Given the description of an element on the screen output the (x, y) to click on. 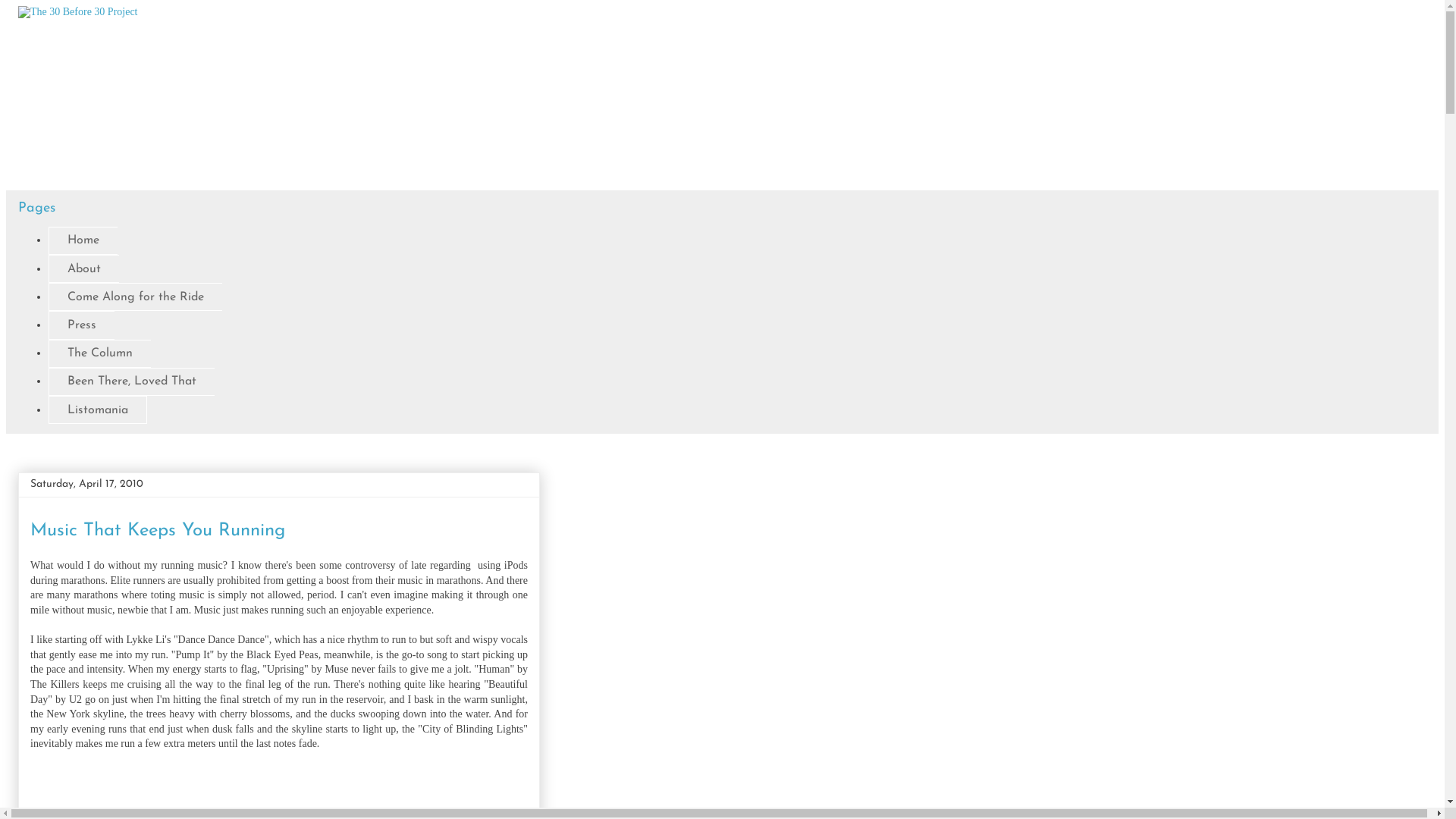
Been There, Loved That Element type: text (131, 381)
The Column Element type: text (99, 353)
Press Element type: text (81, 324)
Come Along for the Ride Element type: text (135, 296)
Listomania Element type: text (97, 409)
About Element type: text (83, 268)
Home Element type: text (82, 240)
